Given the description of an element on the screen output the (x, y) to click on. 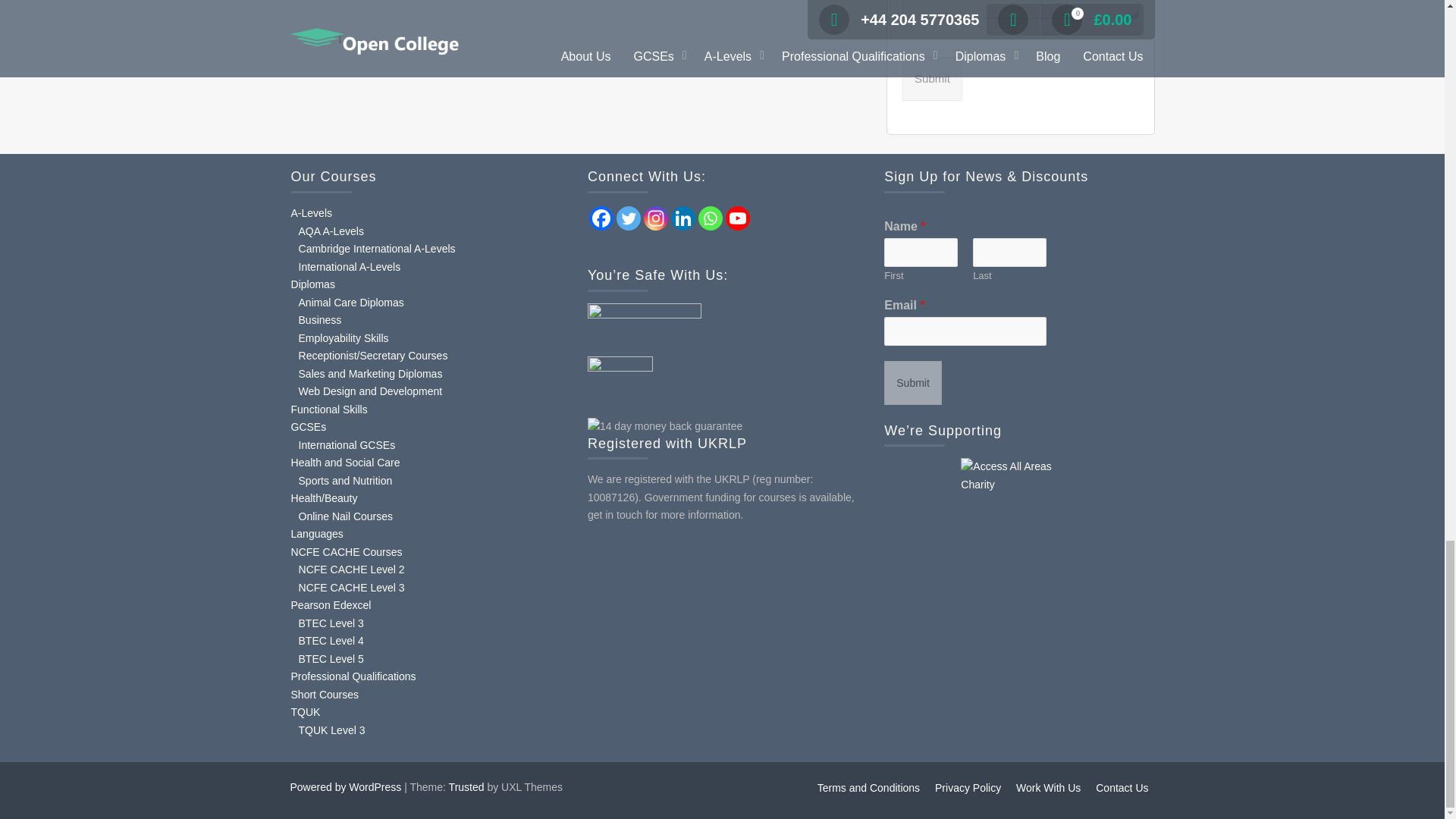
Facebook (600, 218)
Youtube (737, 218)
Instagram (655, 218)
Whatsapp (710, 218)
Linkedin Company (683, 218)
Twitter (627, 218)
